Given the description of an element on the screen output the (x, y) to click on. 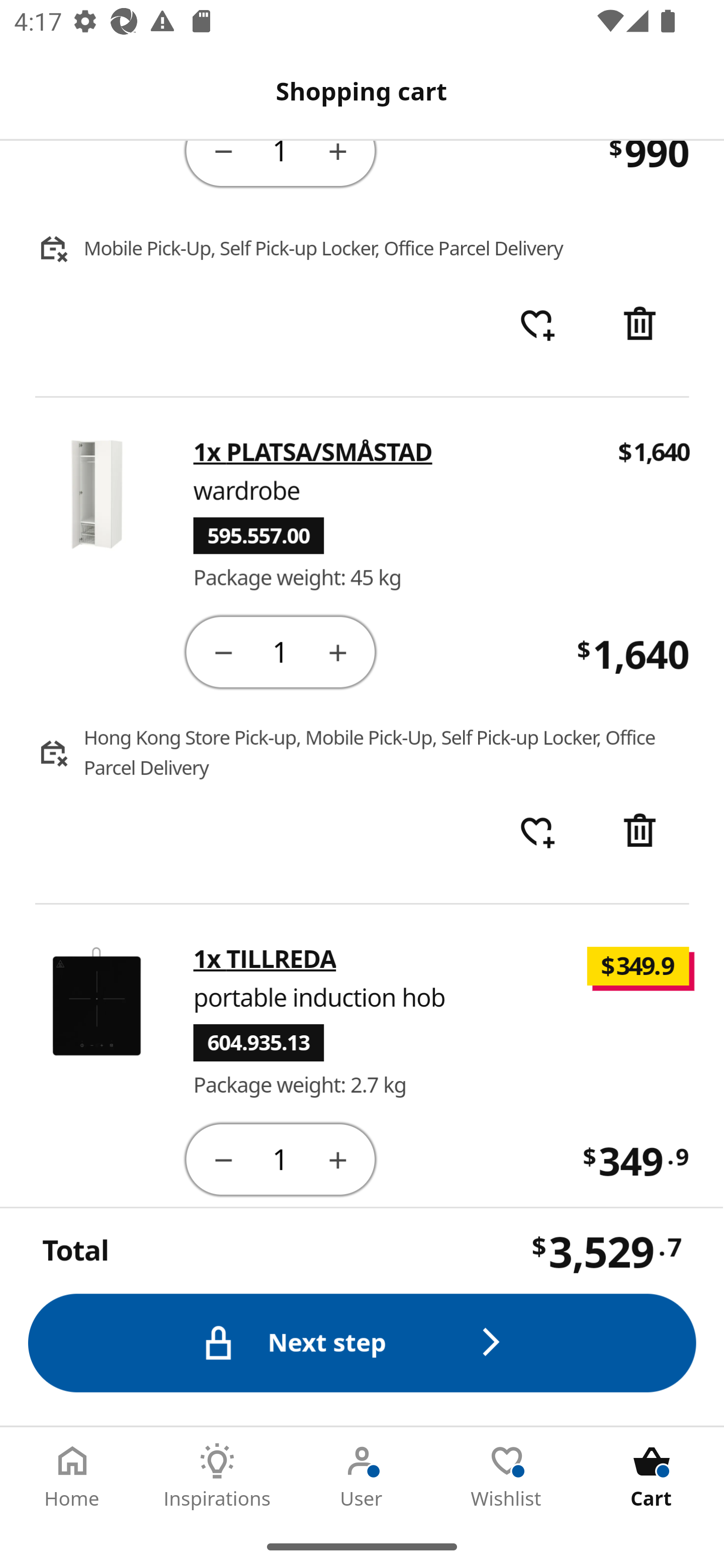
 (223, 159)
1 (281, 163)
 (338, 159)
  (536, 325)
 (641, 325)
1x  PLATSA/SMÅSTAD 1x  PLATSA/SMÅSTAD (313, 452)
1 (281, 652)
 (223, 652)
 (338, 652)
  (536, 832)
 (641, 832)
1x  TILLREDA 1x  TILLREDA (265, 959)
1 (281, 1158)
 (223, 1157)
 (338, 1157)
Home
Tab 1 of 5 (72, 1476)
Inspirations
Tab 2 of 5 (216, 1476)
User
Tab 3 of 5 (361, 1476)
Wishlist
Tab 4 of 5 (506, 1476)
Cart
Tab 5 of 5 (651, 1476)
